Given the description of an element on the screen output the (x, y) to click on. 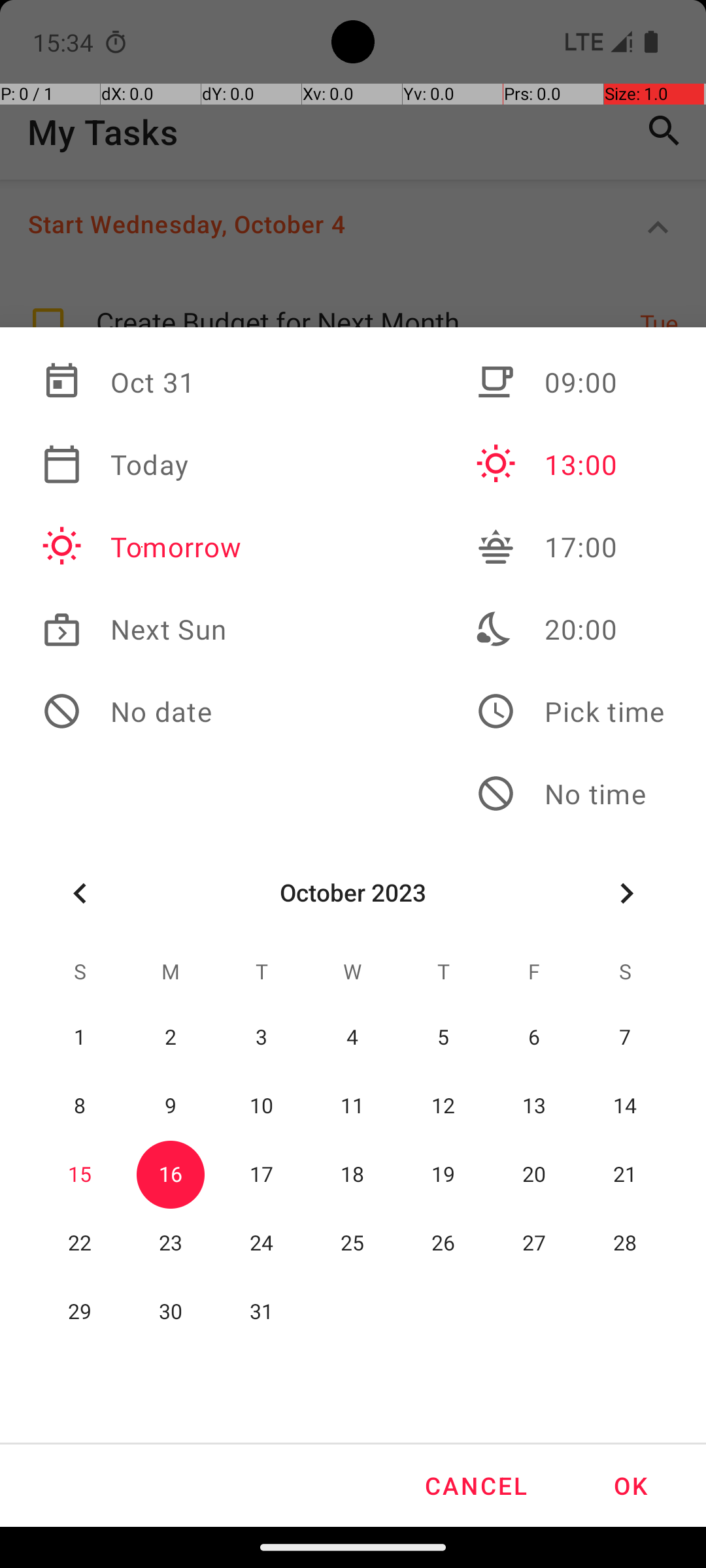
Oct 31 Element type: android.widget.CompoundButton (141, 382)
